Given the description of an element on the screen output the (x, y) to click on. 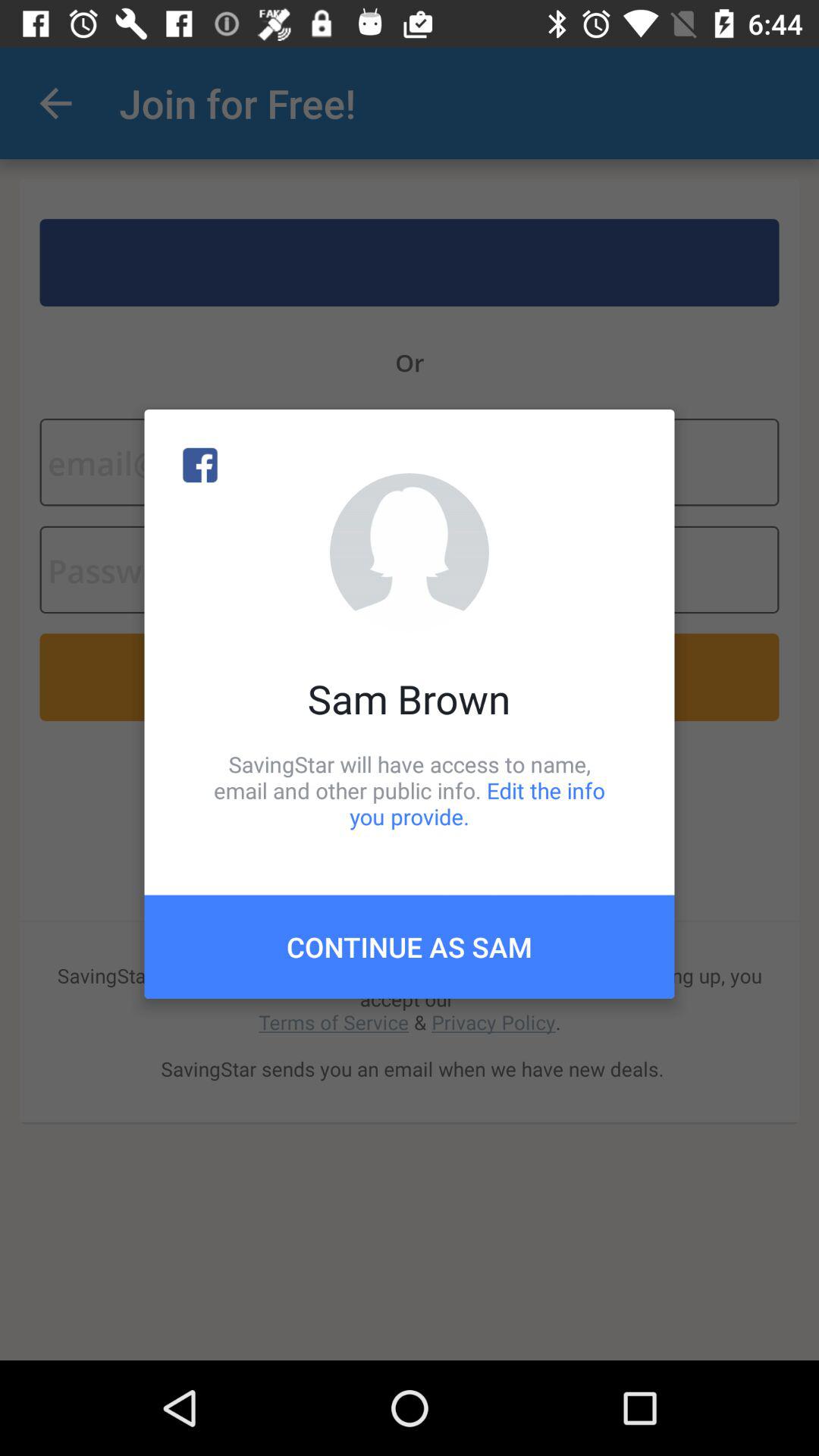
flip to continue as sam item (409, 946)
